Given the description of an element on the screen output the (x, y) to click on. 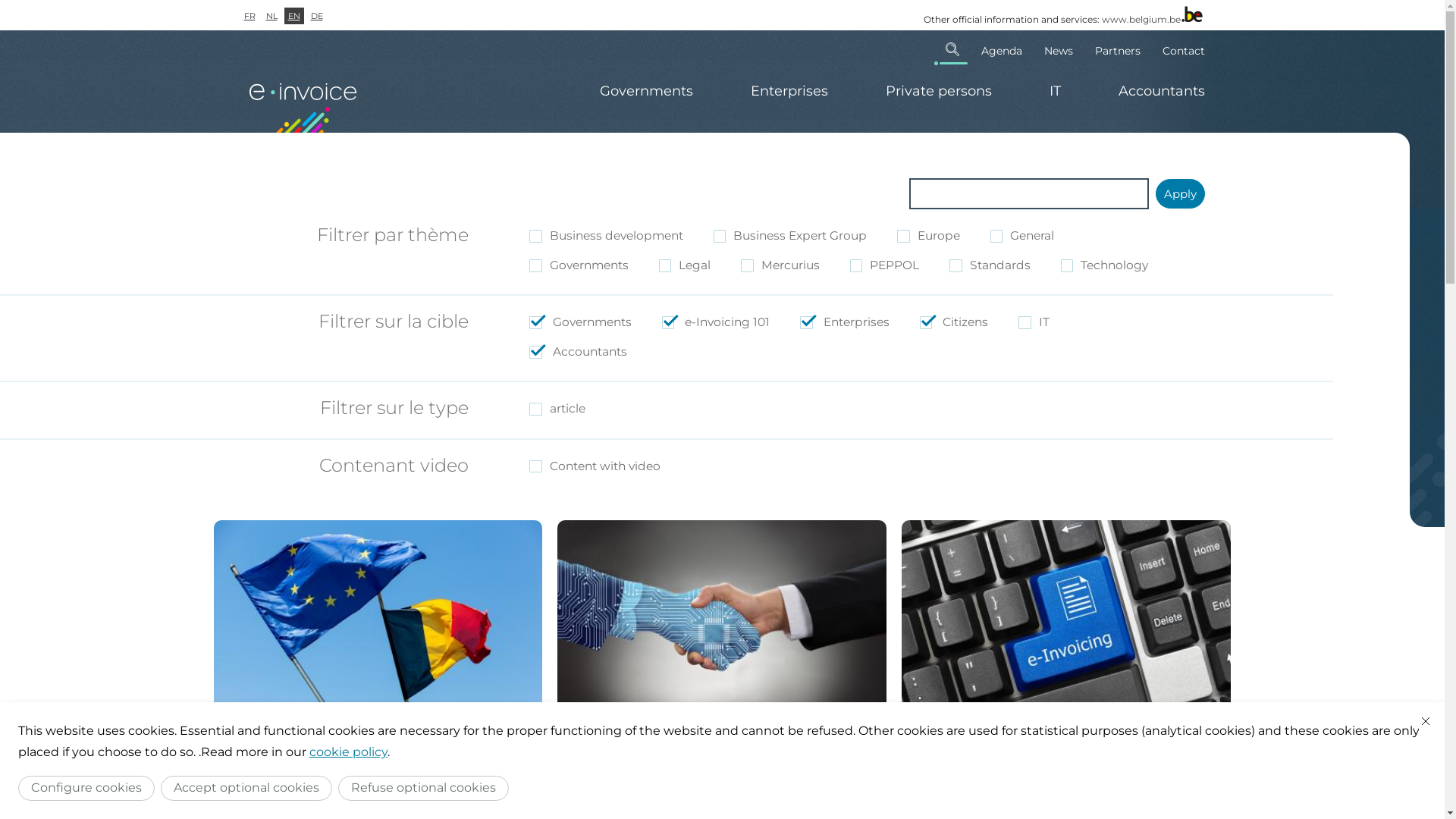
Partners Element type: text (1117, 49)
Close Element type: hover (1425, 721)
What is Belgium doing to promote e-Invoicing? Element type: text (358, 785)
EN Element type: text (293, 15)
Refuse optional cookies Element type: text (423, 787)
News Element type: text (1058, 49)
www.belgium.be Element type: text (1140, 19)
Search Element type: text (952, 49)
Contact Element type: text (1178, 49)
Governments Element type: text (645, 91)
cookie policy Element type: text (348, 751)
Accountants Element type: text (771, 807)
e-Invoicing 101 Element type: text (941, 807)
Accountants Element type: text (1147, 91)
IT Element type: text (1055, 91)
Governments Element type: text (595, 807)
Enterprises Element type: text (789, 91)
Back to the homepage Element type: hover (304, 100)
Agenda Element type: text (1001, 49)
Skip to main content Element type: text (0, 0)
Enterprises Element type: text (675, 807)
Who is concerned by e-Invoicing? Element type: text (1032, 777)
FR Element type: text (248, 15)
IT Element type: text (721, 807)
NL Element type: text (271, 15)
Accept optional cookies Element type: text (246, 787)
DE Element type: text (316, 15)
Become a partner of our site Element type: text (666, 777)
Apply Element type: text (1179, 193)
Configure cookies Element type: text (86, 787)
Private persons Element type: text (938, 91)
